Given the description of an element on the screen output the (x, y) to click on. 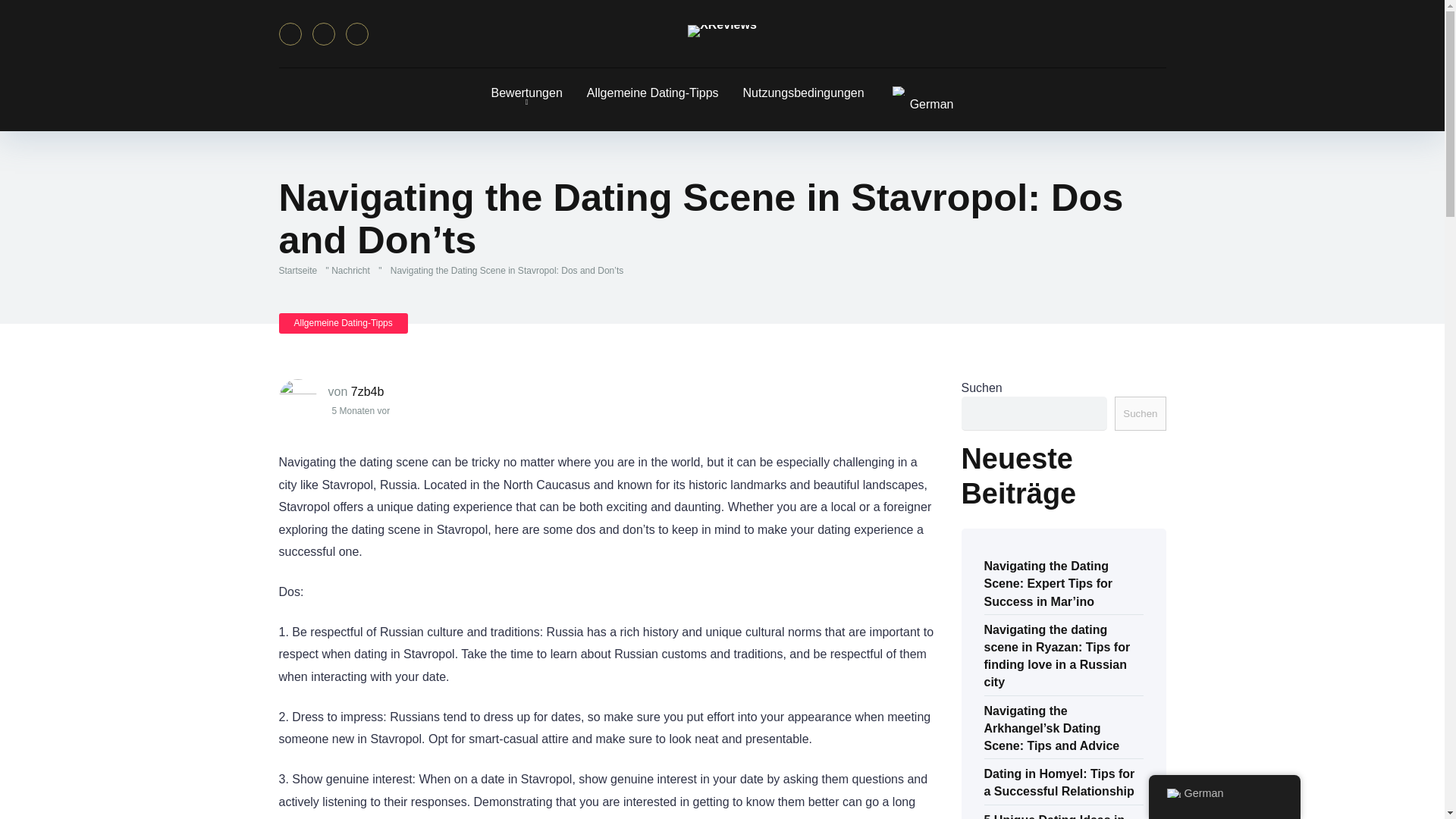
Dating in Homyel: Tips for a Successful Relationship (1059, 781)
German (898, 90)
Suchen (1140, 413)
Twitter (323, 33)
7zb4b (367, 391)
Facebook (290, 33)
Bewertungen (527, 93)
XReviews (722, 30)
Nachricht (353, 270)
Allgemeine Dating-Tipps (343, 322)
German (921, 99)
5 Unique Dating Ideas in Stavropol (1054, 812)
Nutzungsbedingungen (803, 93)
Instagram (357, 33)
